Given the description of an element on the screen output the (x, y) to click on. 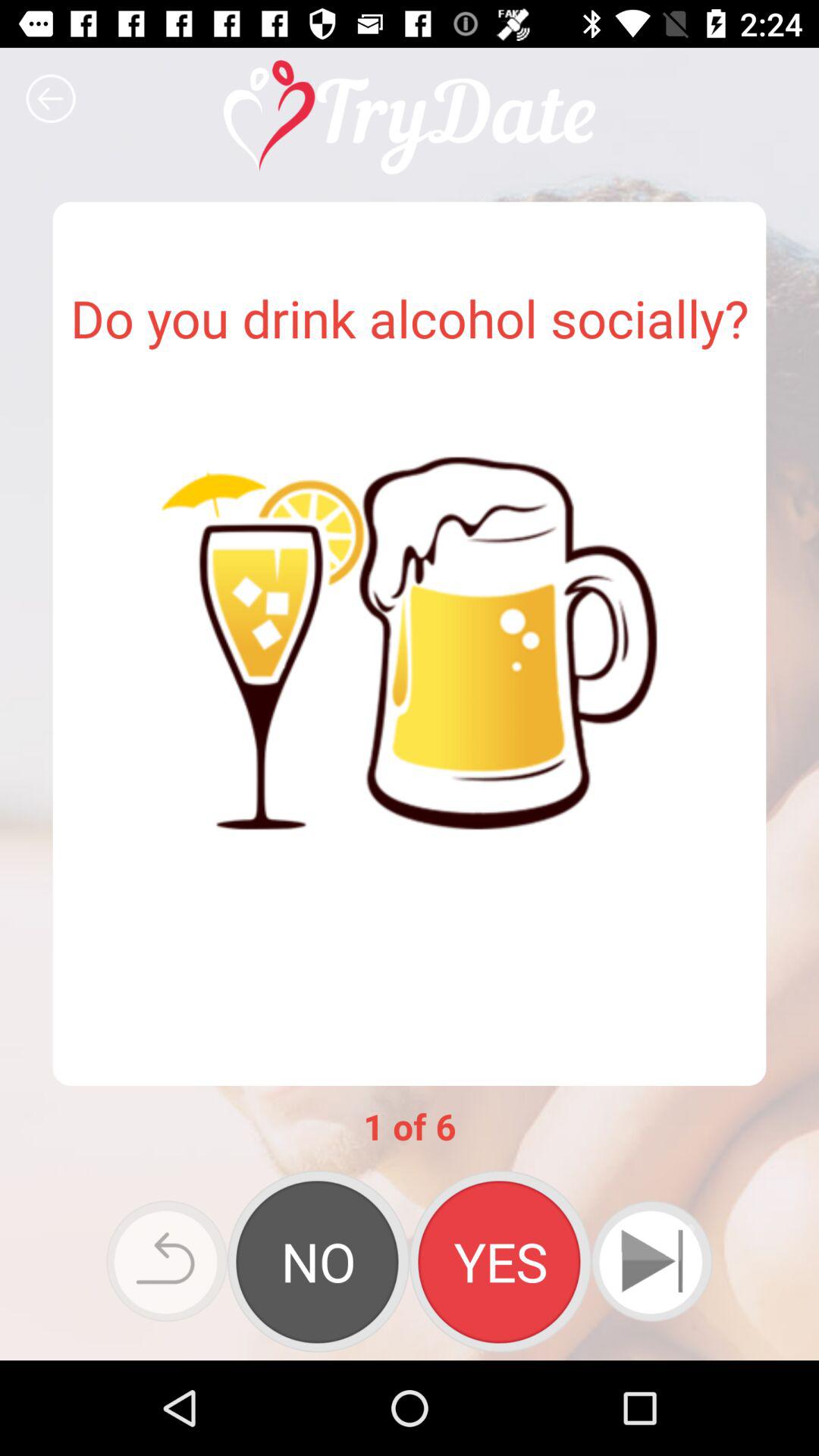
launch icon below 1 of 6 app (166, 1260)
